Given the description of an element on the screen output the (x, y) to click on. 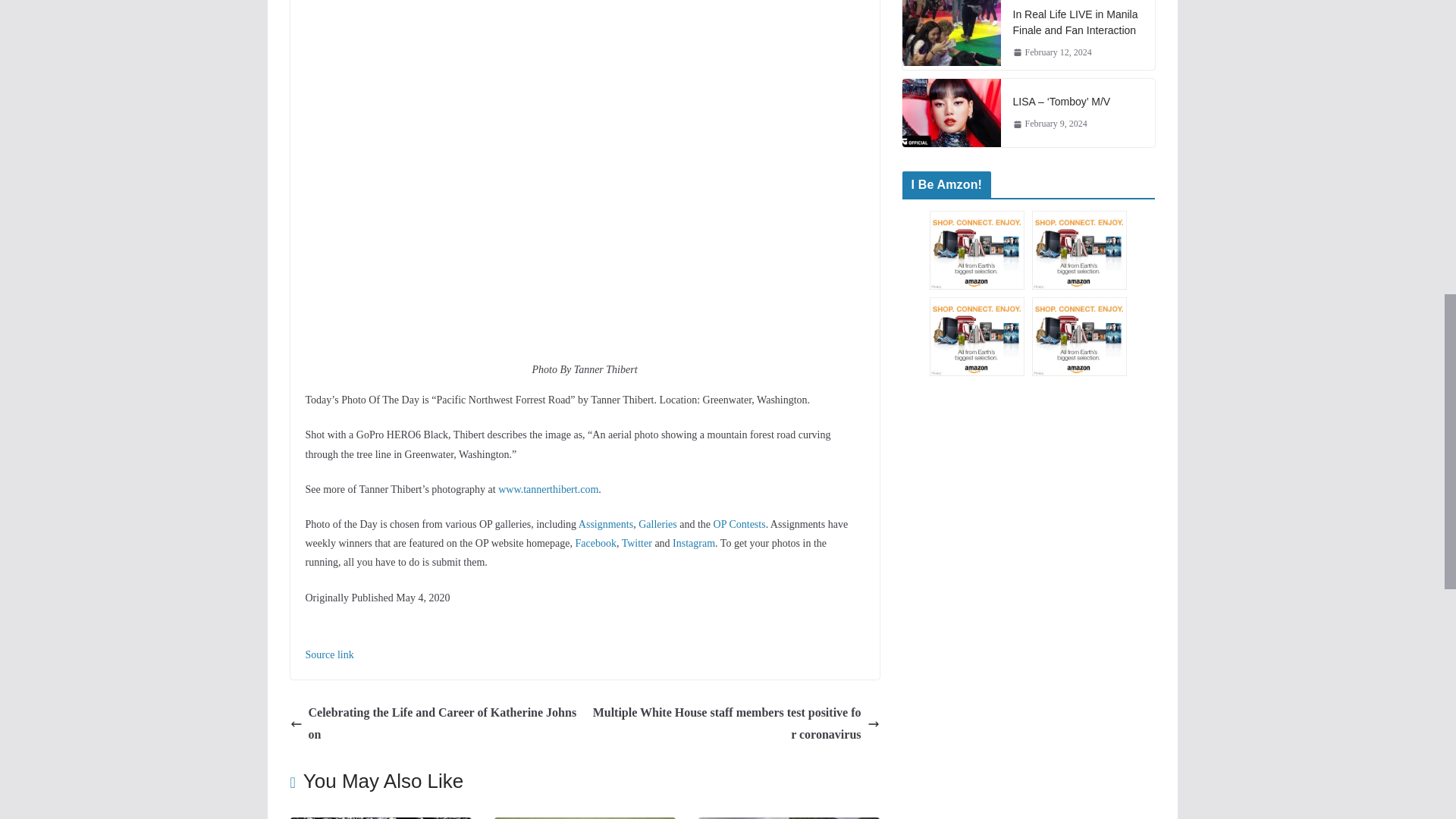
Source link (328, 654)
www.tannerthibert.com (547, 489)
Facebook (595, 542)
Assignments (605, 523)
Twitter (636, 542)
Celebrating the Life and Career of Katherine Johnson (432, 723)
OP Contests (739, 523)
Instagram (693, 542)
Galleries (658, 523)
